Given the description of an element on the screen output the (x, y) to click on. 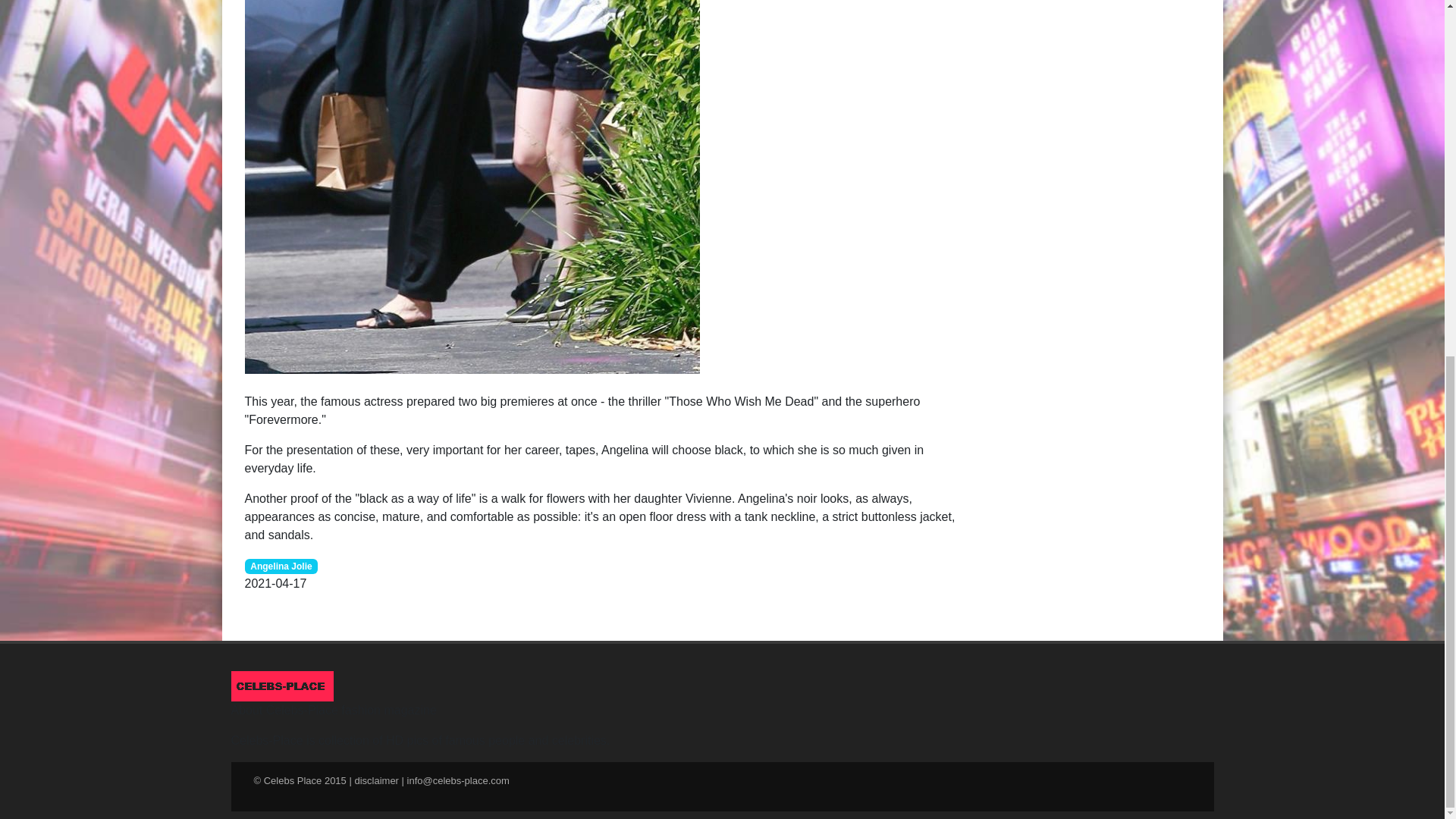
Angelina Jolie (280, 564)
disclaimer (375, 780)
Advertisement (1086, 55)
